Given the description of an element on the screen output the (x, y) to click on. 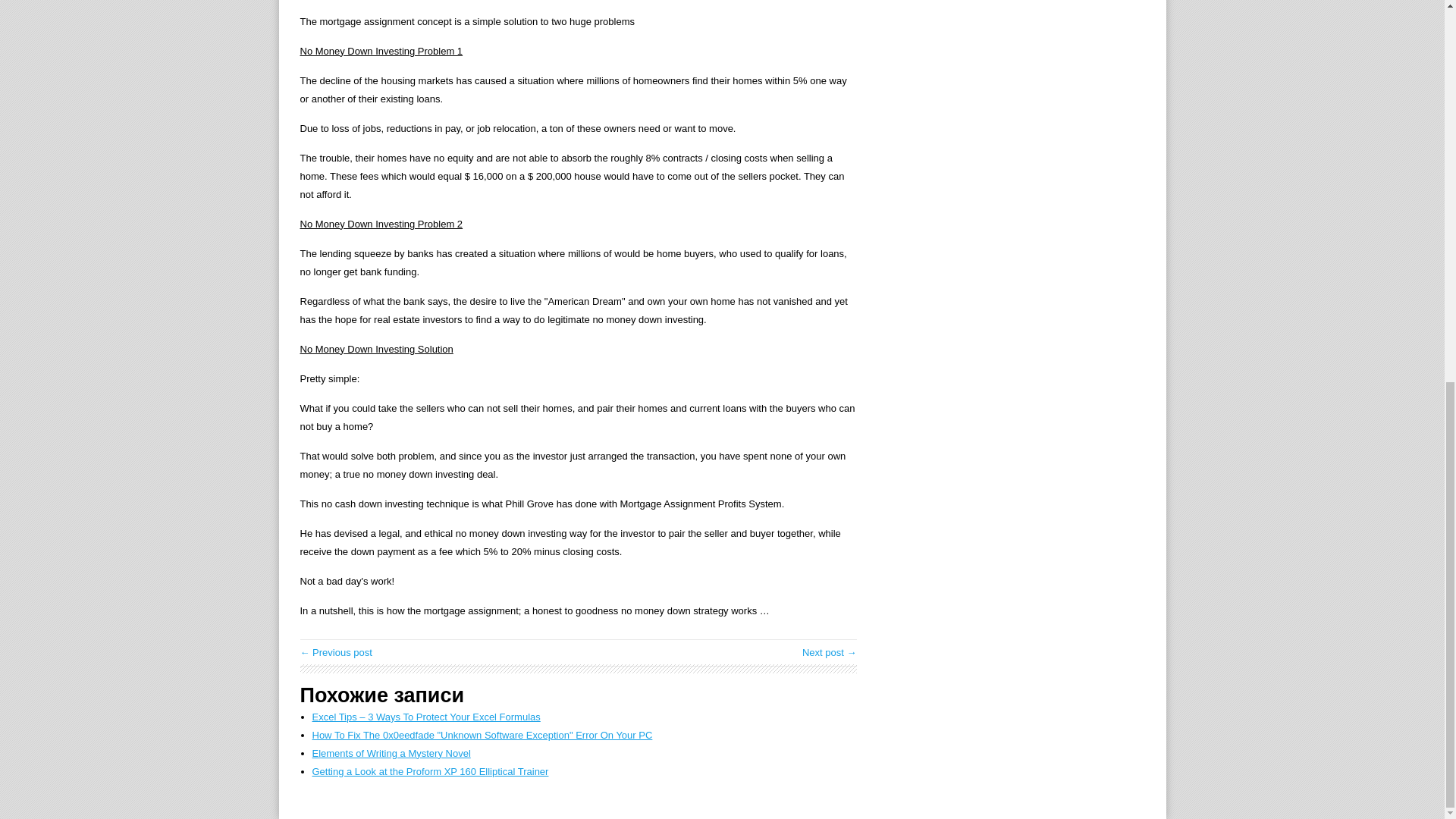
How-To - Transferring Songs Between Your iPod and Computer (829, 652)
Getting a Look at the Proform XP 160 Elliptical Trainer (430, 771)
Web Designing: An Efficient Tool in the Business Development (335, 652)
Elements of Writing a Mystery Novel (391, 753)
